Given the description of an element on the screen output the (x, y) to click on. 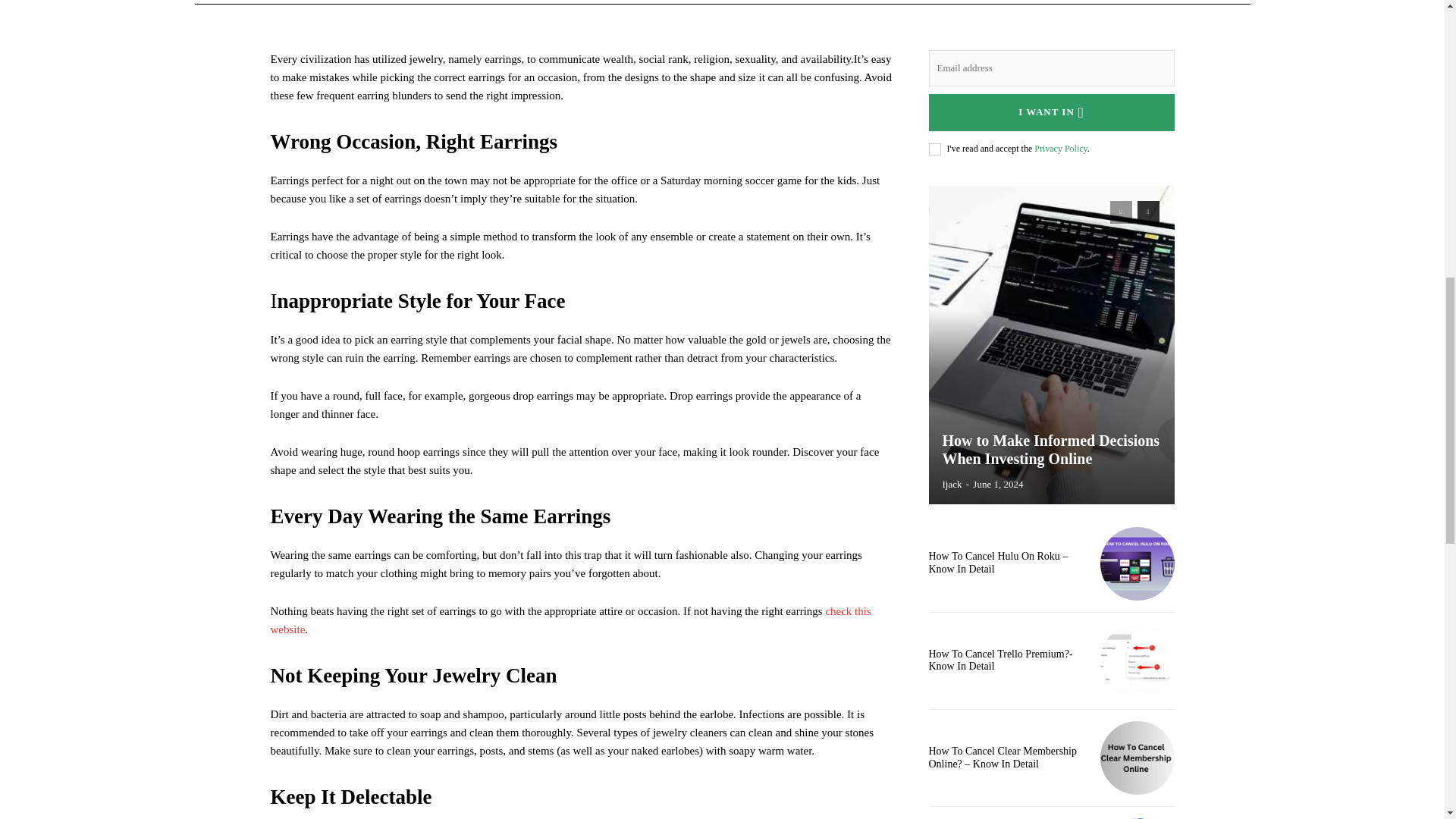
How to Make Informed Decisions When Investing Online (1050, 449)
I WANT IN (1050, 112)
How To Cancel Trello Premium?- Know In Detail (999, 660)
check this website (569, 620)
How To Cancel Trello Premium?- Know In Detail (1136, 660)
